Given the description of an element on the screen output the (x, y) to click on. 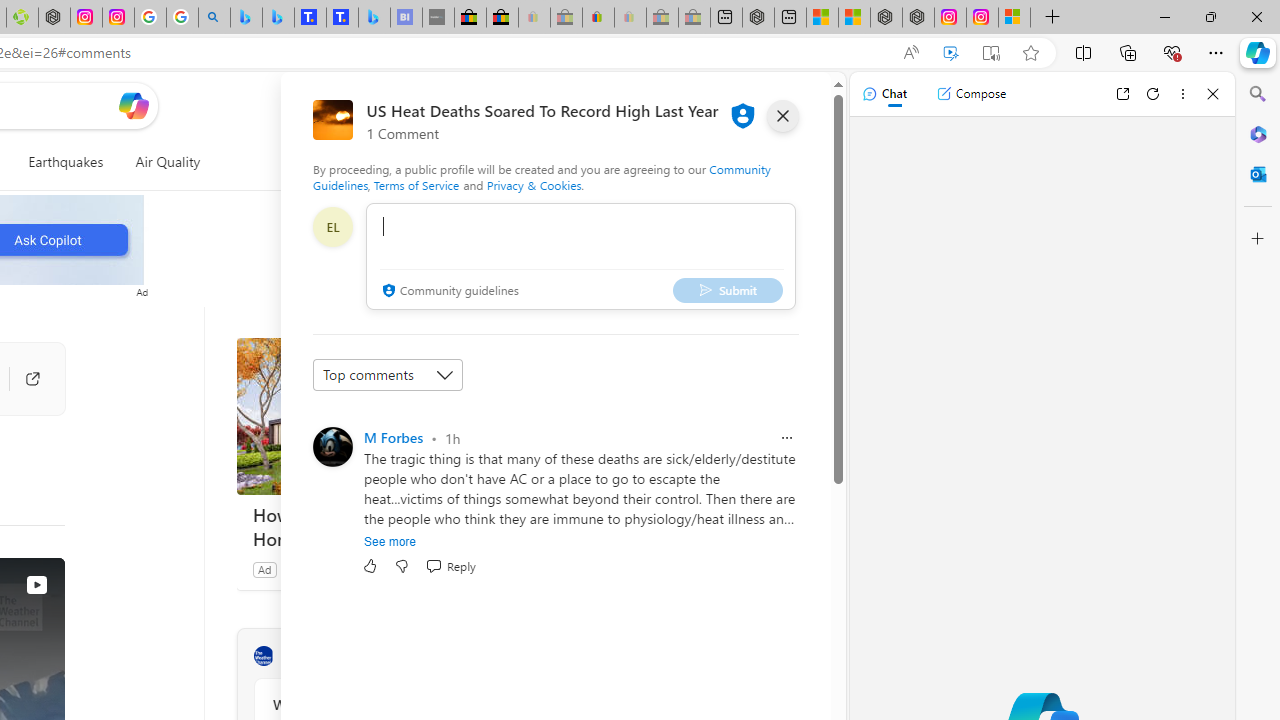
Earthquakes (65, 162)
Chat (884, 93)
